Given the description of an element on the screen output the (x, y) to click on. 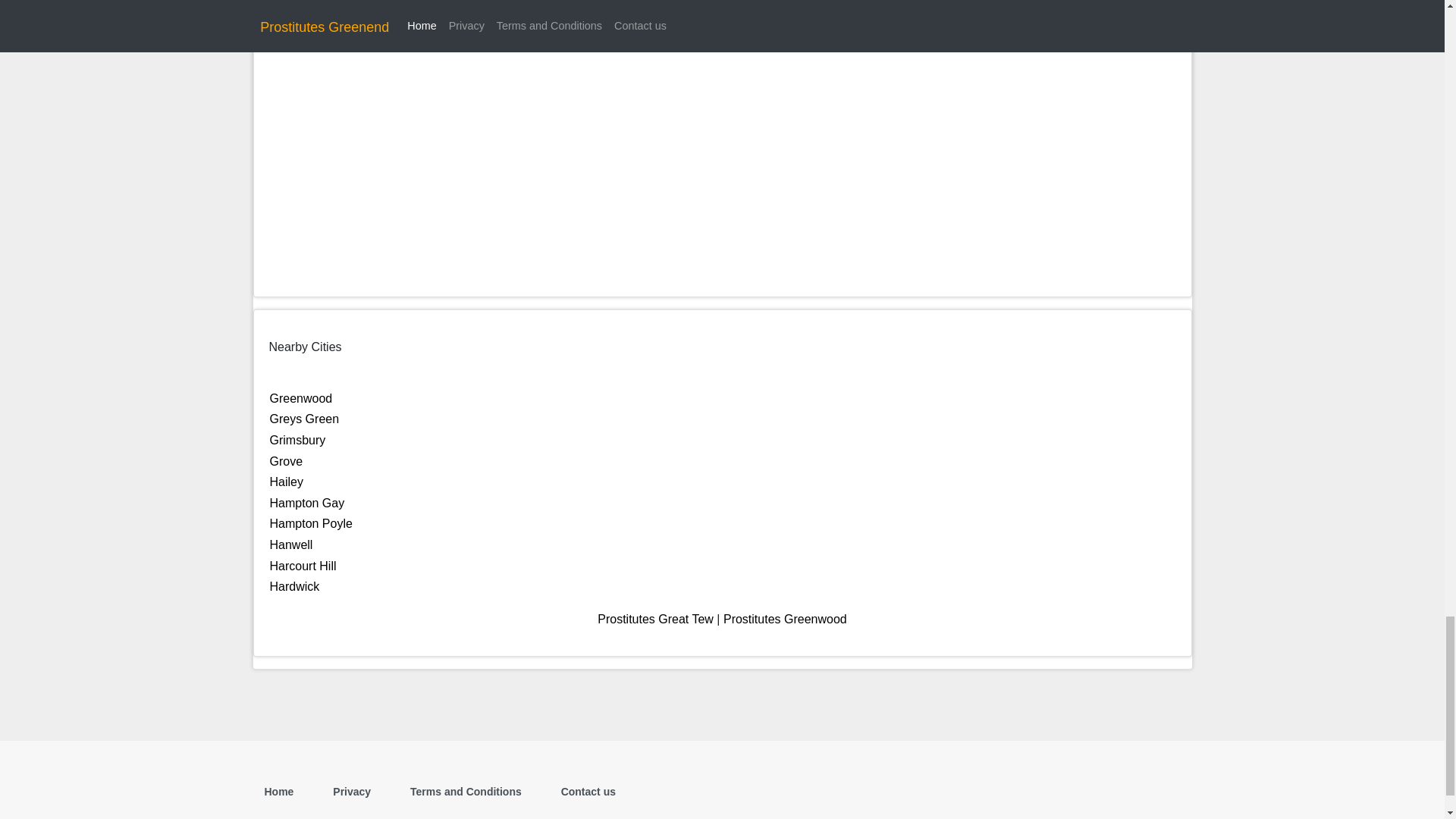
Hanwell (291, 544)
Hampton Poyle (310, 522)
Grove (285, 461)
Hardwick (294, 585)
Prostitutes Greenwood (785, 618)
Prostitutes Great Tew (654, 618)
Grimsbury (297, 440)
Hampton Gay (307, 502)
Harcourt Hill (302, 565)
Hailey (285, 481)
